Given the description of an element on the screen output the (x, y) to click on. 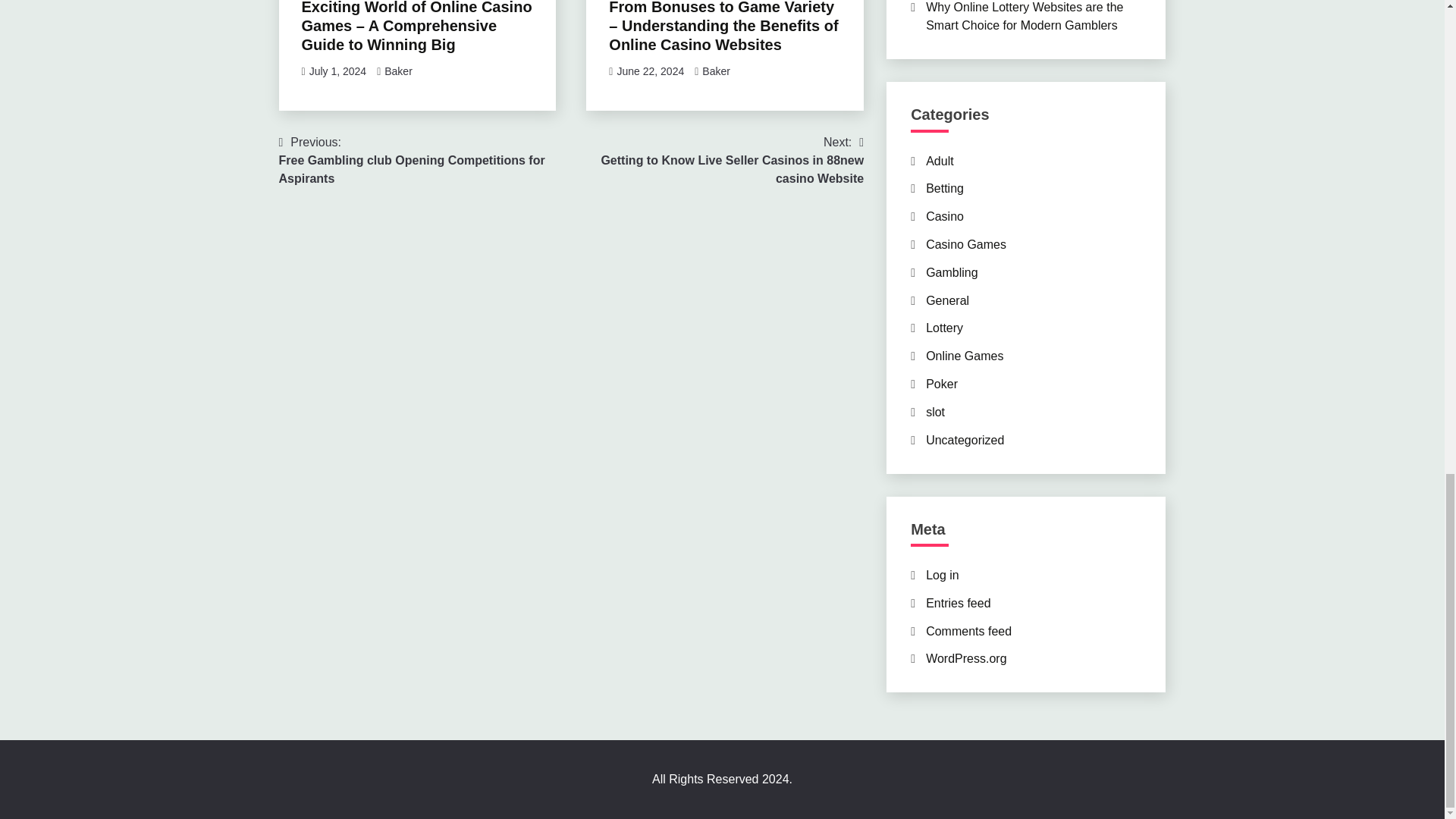
June 22, 2024 (649, 70)
July 1, 2024 (337, 70)
Gambling (951, 272)
Casino Games (966, 244)
Betting (944, 187)
Adult (939, 160)
Baker (398, 70)
Casino (944, 215)
Baker (715, 70)
